Given the description of an element on the screen output the (x, y) to click on. 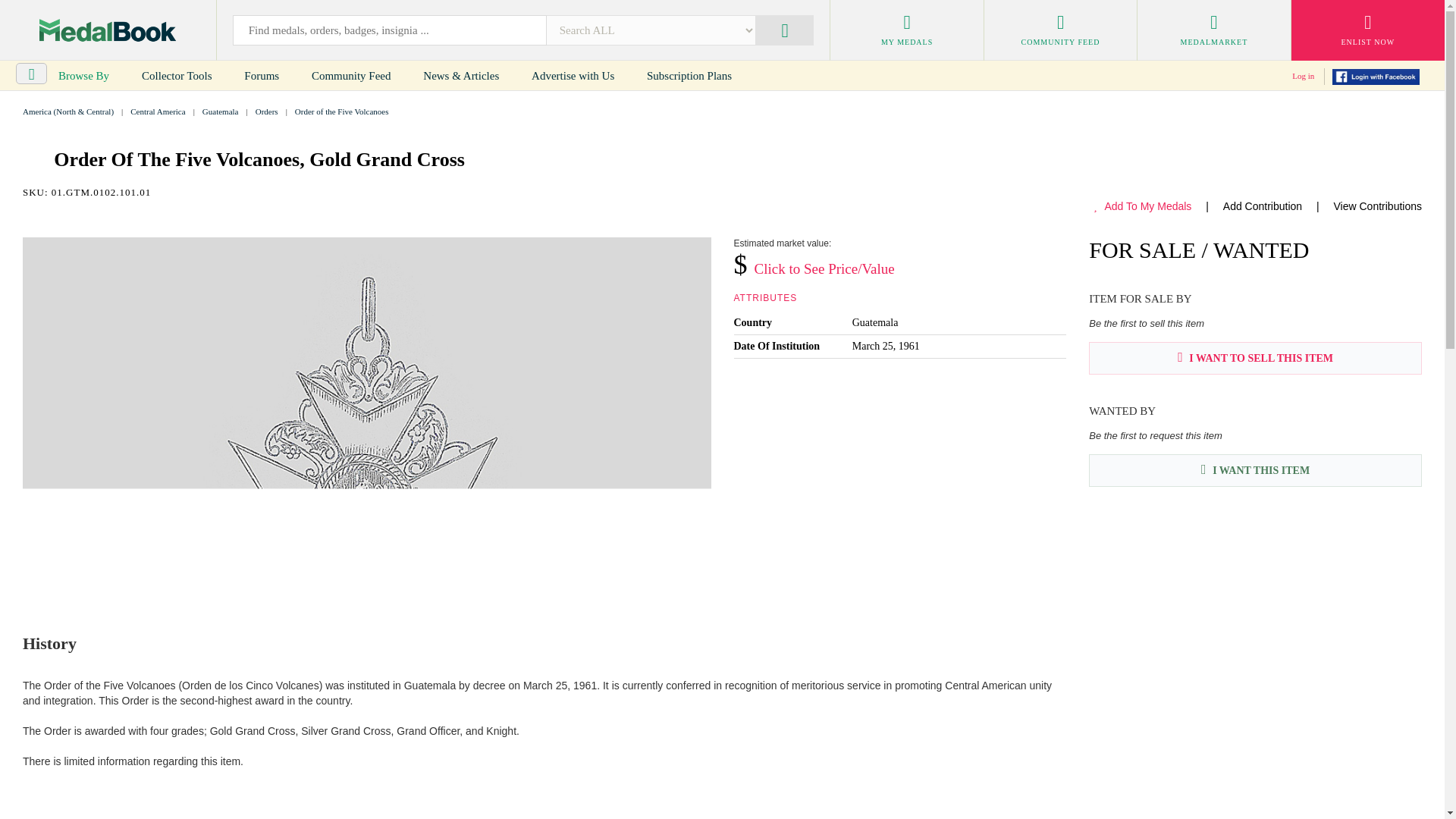
Log in (1303, 75)
View Contributions (1377, 205)
Guatemala (220, 111)
Subscription Plans (688, 75)
Order of the Five Volcanoes (341, 111)
I WANT TO SELL THIS ITEM (1255, 358)
Add To My Medals (1142, 205)
I WANT THIS ITEM (1255, 470)
Advertise with Us (572, 75)
Community Feed (351, 75)
